Given the description of an element on the screen output the (x, y) to click on. 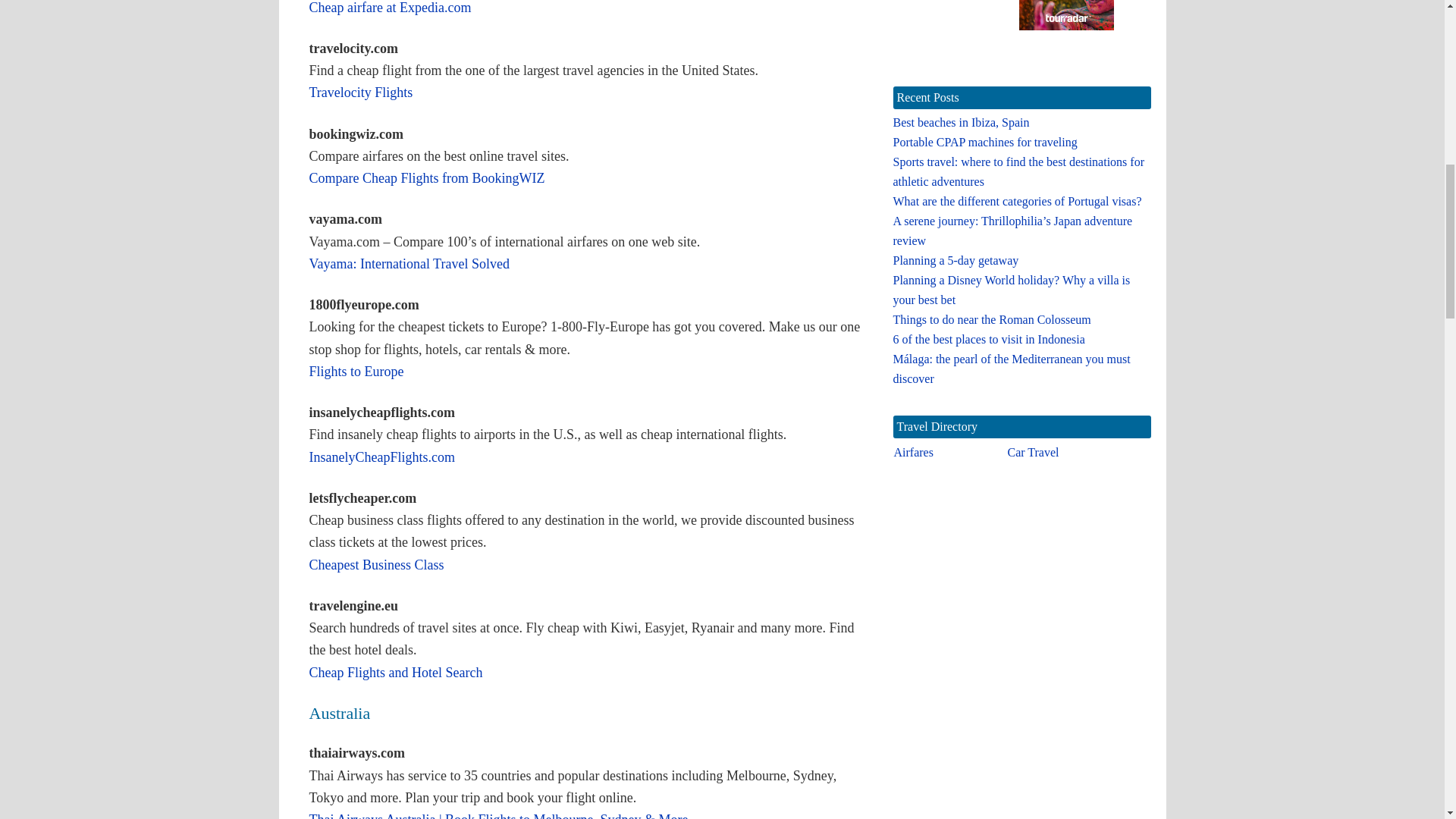
Flights to Europe (356, 371)
Travelocity Flights (360, 92)
Cheapest Business Class (376, 563)
Compare Cheap Flights from BookingWIZ (426, 177)
Vayama: International Travel Solved (408, 263)
Cheap airfare at Expedia.com (389, 7)
Cheap Flights and Hotel Search (395, 671)
InsanelyCheapFlights.com (381, 456)
